Given the description of an element on the screen output the (x, y) to click on. 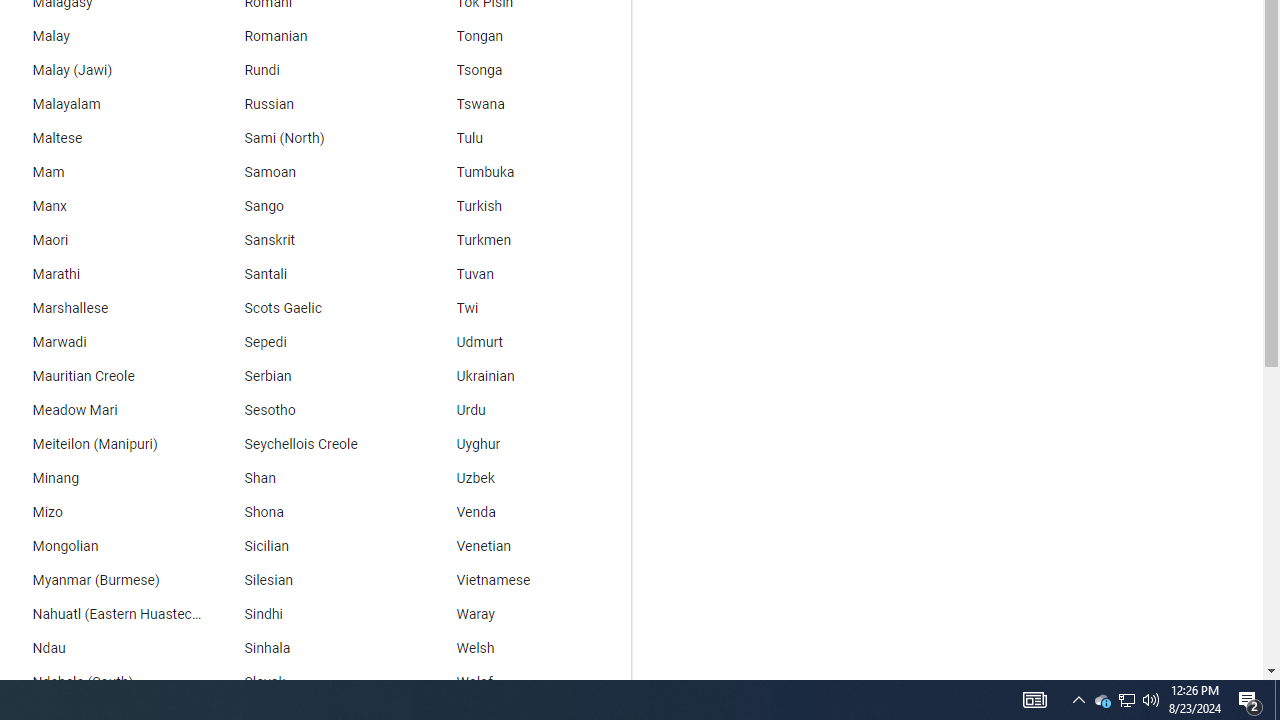
Sindhi (312, 614)
Shan (312, 478)
Russian (312, 104)
Sinhala (312, 648)
Tongan (525, 36)
Serbian (312, 376)
Sicilian (312, 547)
Romanian (312, 36)
Tsonga (525, 70)
Samoan (312, 172)
Tuvan (525, 274)
Sami (North) (312, 138)
Turkish (525, 206)
Vietnamese (525, 580)
Uyghur (525, 444)
